Given the description of an element on the screen output the (x, y) to click on. 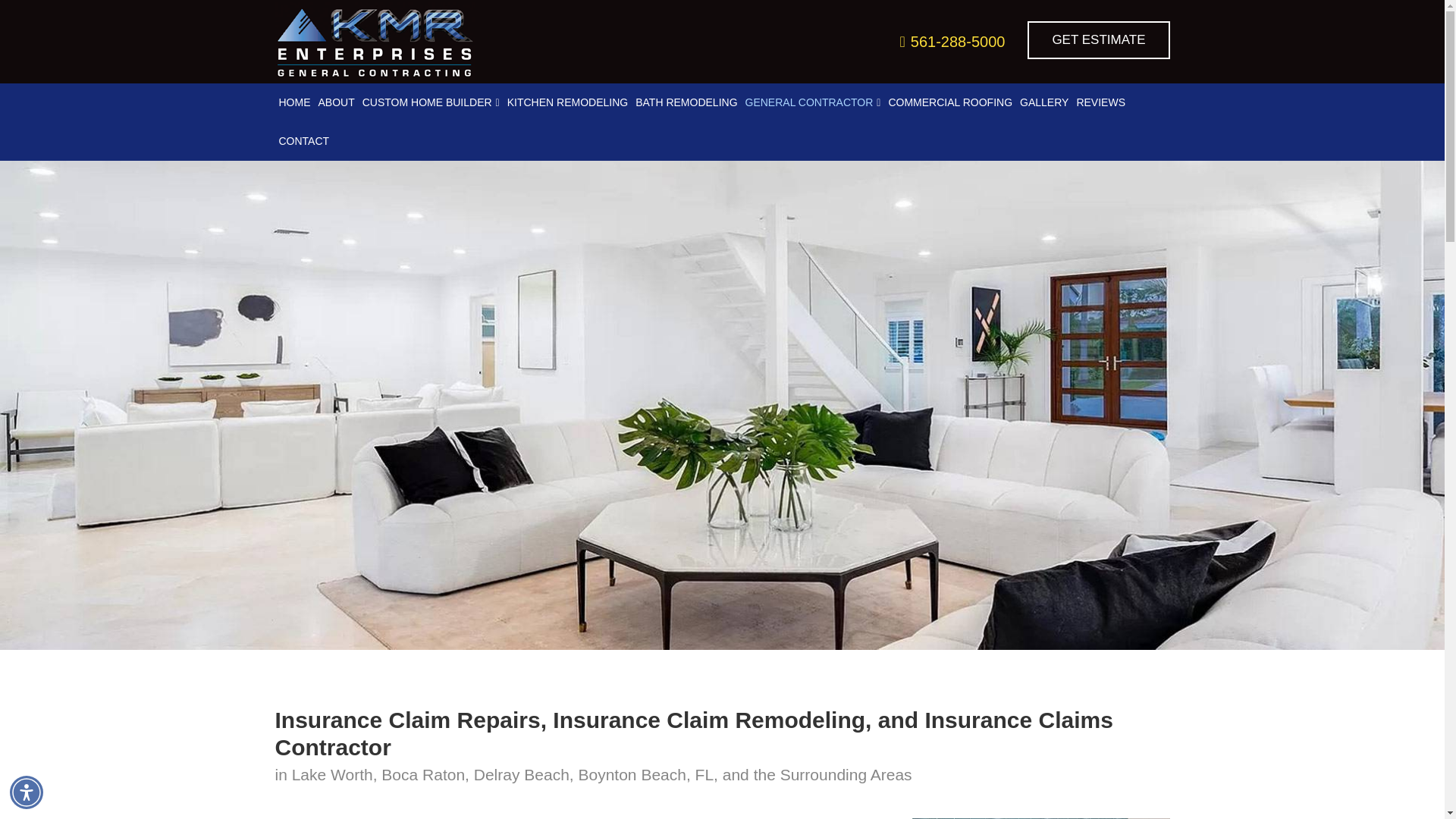
KITCHEN REMODELING (567, 102)
ABOUT (336, 102)
GET ESTIMATE (1098, 39)
HOME (294, 102)
GENERAL CONTRACTOR (813, 102)
BATH REMODELING (686, 102)
CONTACT (305, 141)
561-288-5000 (952, 41)
CUSTOM HOME BUILDER (430, 102)
GALLERY (1043, 102)
REVIEWS (1100, 102)
Accessibility Menu (26, 792)
COMMERCIAL ROOFING (949, 102)
